Given the description of an element on the screen output the (x, y) to click on. 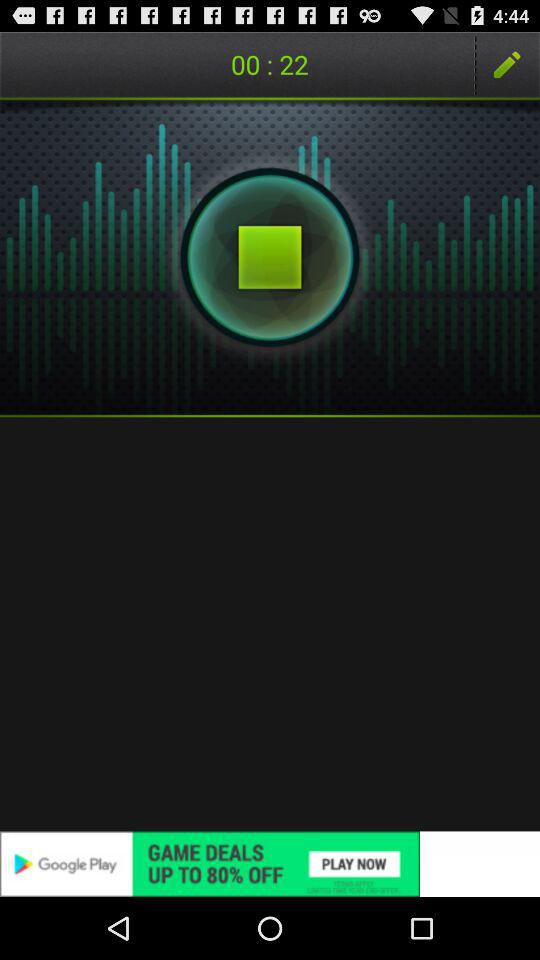
tap the item to the right of 01 : 15 item (507, 64)
